Given the description of an element on the screen output the (x, y) to click on. 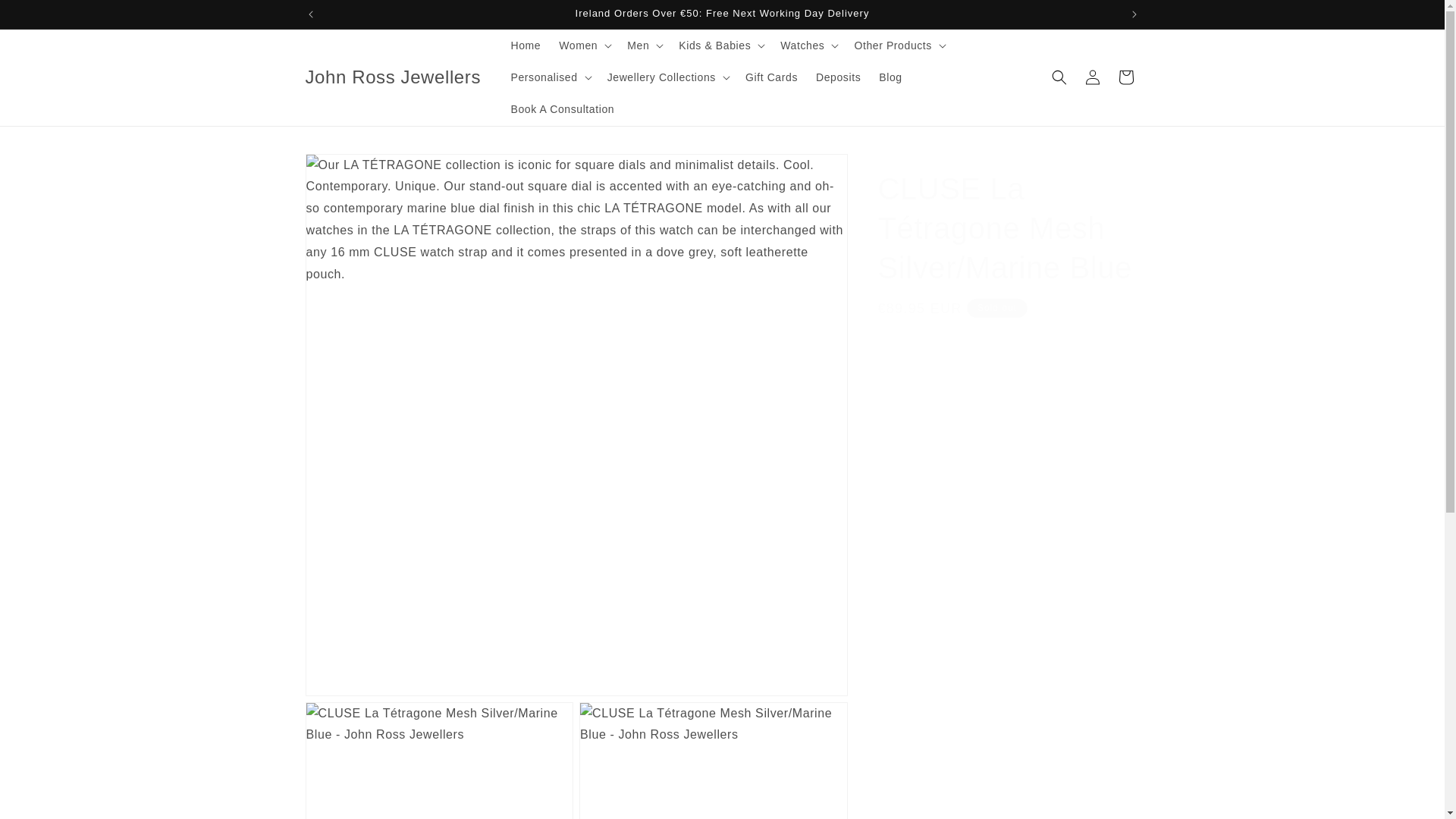
Open media 2 in modal (438, 760)
Open media 3 in modal (713, 760)
Skip to content (45, 17)
